Given the description of an element on the screen output the (x, y) to click on. 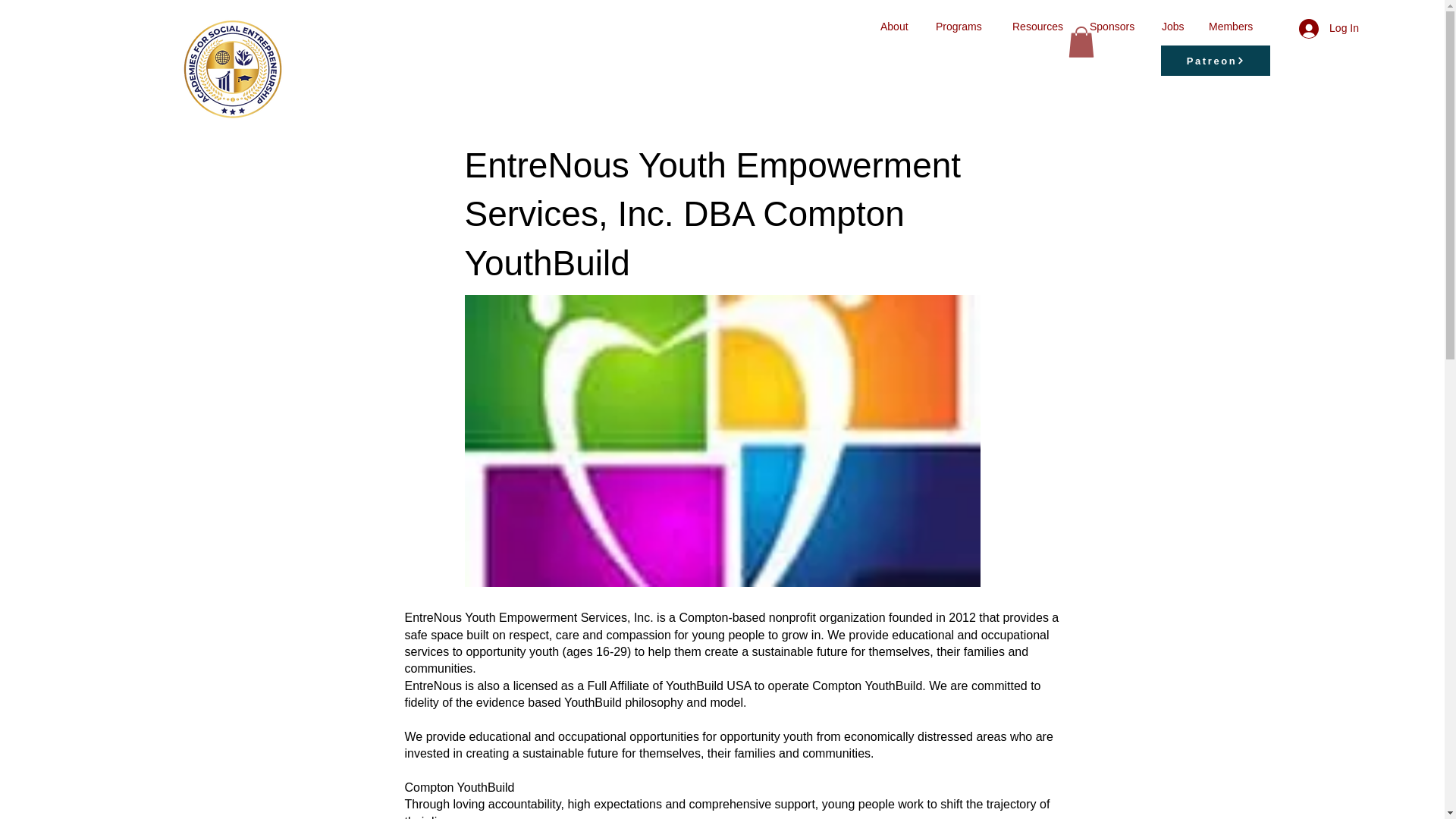
About (896, 26)
Jobs (1173, 26)
Resources (1039, 26)
Log In (1329, 27)
Sponsors (1114, 26)
Patreon (1214, 60)
Programs (962, 26)
Members (1232, 26)
